Given the description of an element on the screen output the (x, y) to click on. 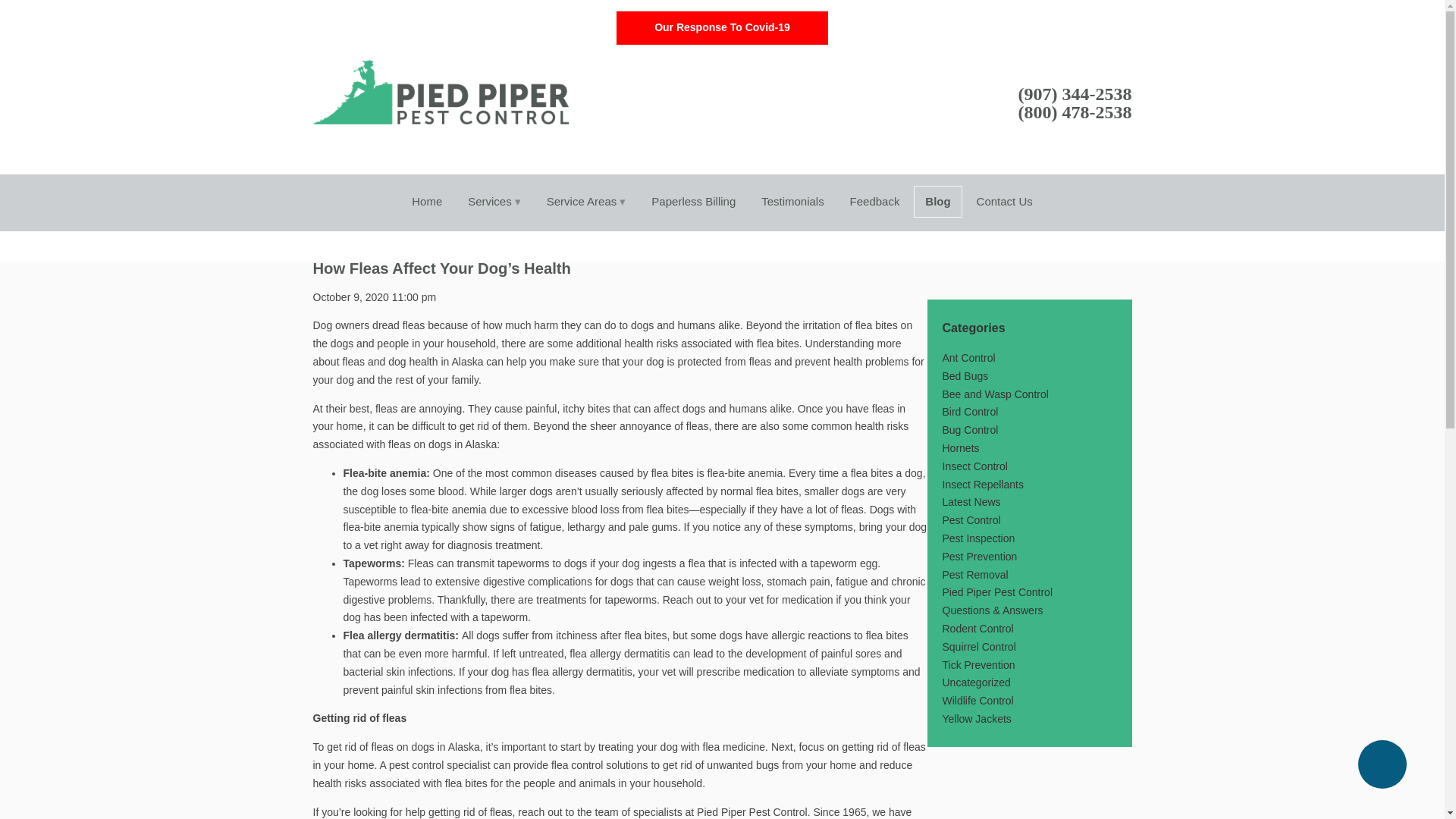
Learn more about our pest control services! (494, 201)
Home (426, 201)
Our Response To Covid-19 (721, 28)
Service Areas (586, 201)
Paperless Billing (693, 201)
Contact Us (1004, 201)
Learn more about our paperless billing! (693, 201)
Feedback (874, 201)
Blog (937, 201)
Testimonials (792, 201)
Services (494, 201)
